Given the description of an element on the screen output the (x, y) to click on. 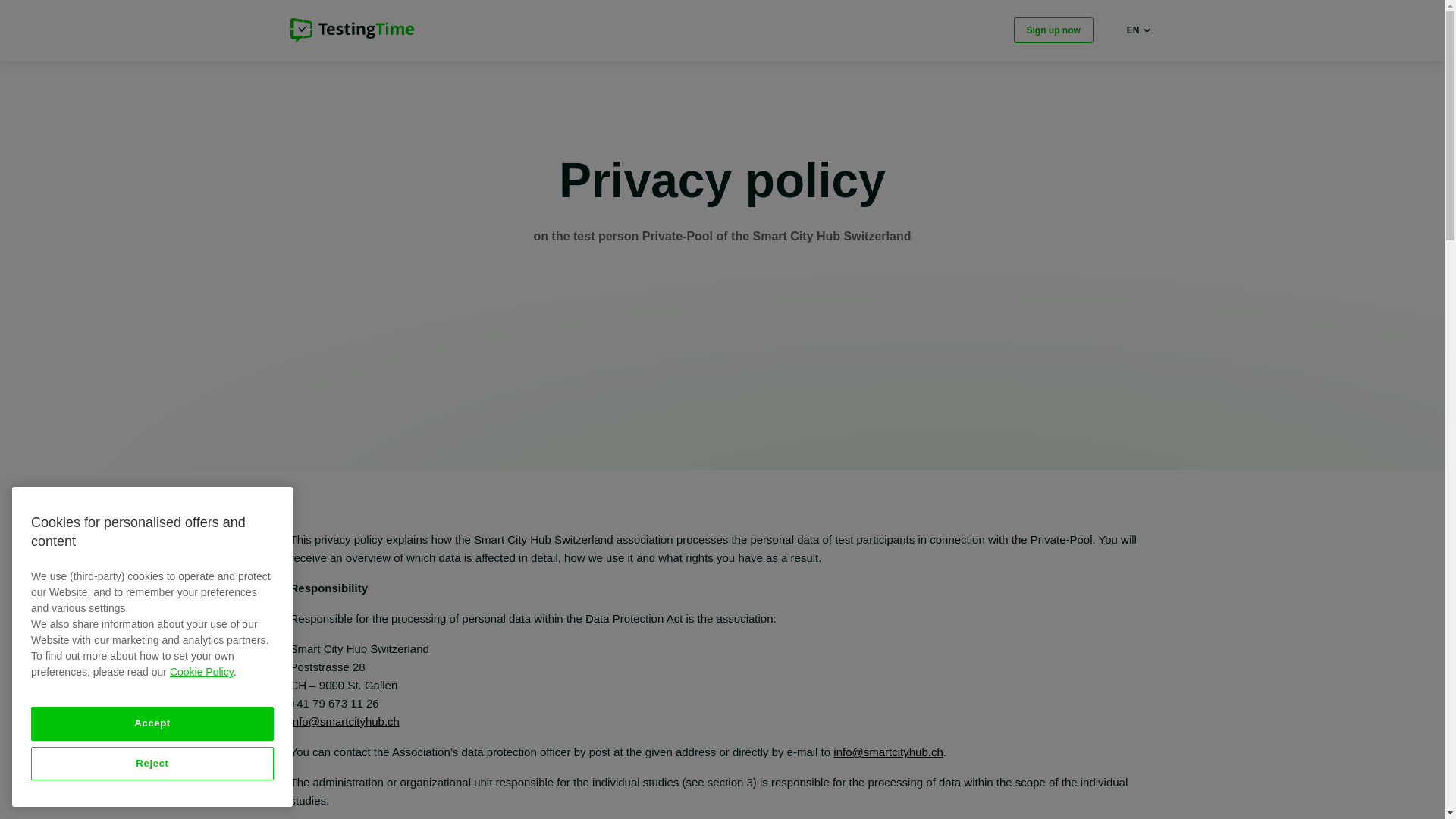
Reject (151, 763)
EN (1140, 30)
Sign up now (1053, 30)
Cookie Policy (201, 671)
Accept (151, 723)
